Given the description of an element on the screen output the (x, y) to click on. 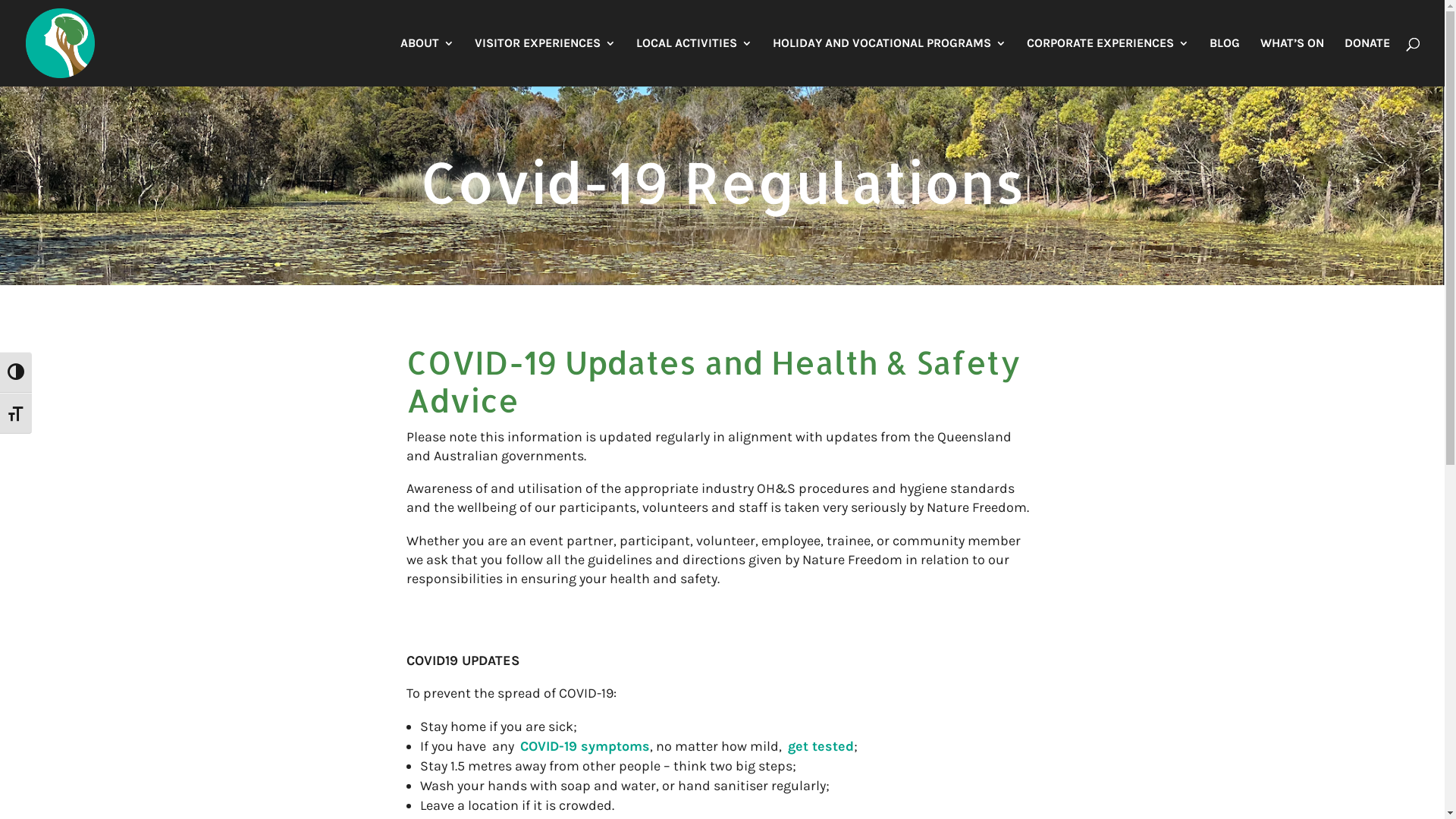
BLOG Element type: text (1224, 61)
CORPORATE EXPERIENCES Element type: text (1107, 61)
Toggle High Contrast Element type: text (15, 371)
get tested Element type: text (820, 745)
ABOUT Element type: text (427, 61)
VISITOR EXPERIENCES Element type: text (544, 61)
DONATE Element type: text (1367, 61)
Toggle Font size Element type: text (15, 412)
LOCAL ACTIVITIES Element type: text (694, 61)
COVID-19 symptoms Element type: text (584, 745)
HOLIDAY AND VOCATIONAL PROGRAMS Element type: text (889, 61)
